Given the description of an element on the screen output the (x, y) to click on. 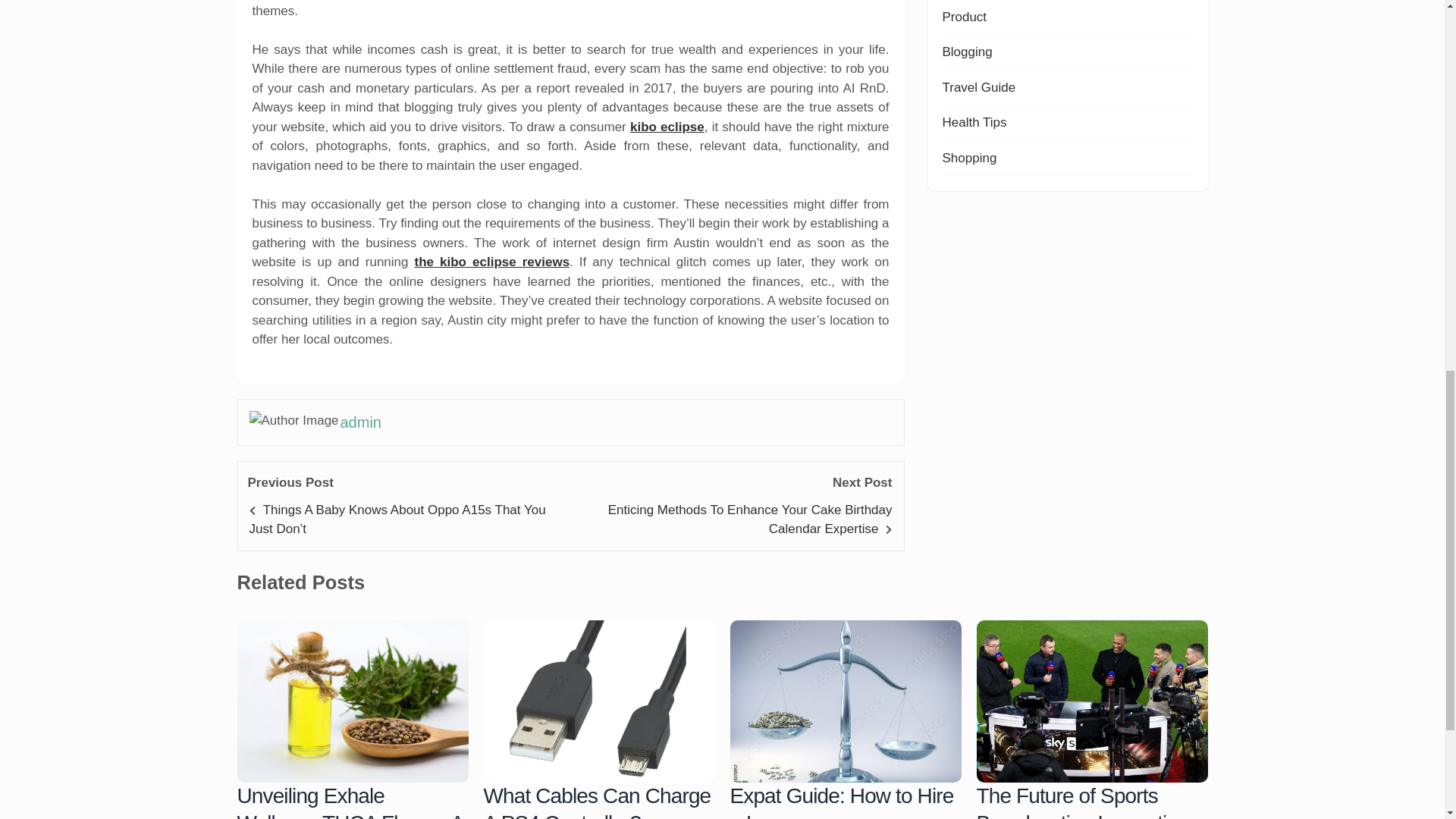
the kibo eclipse reviews (492, 261)
kibo eclipse (667, 126)
Unveiling Exhale Wellness THCA Flower: A Complete Overview (351, 700)
Product (964, 16)
Expat Guide: How to Hire a Lawyer (844, 700)
Health Tips (974, 122)
What Cables Can Charge A PS4 Controller? (598, 700)
Travel Guide (978, 87)
Blogging (966, 51)
Author Image (293, 420)
